Given the description of an element on the screen output the (x, y) to click on. 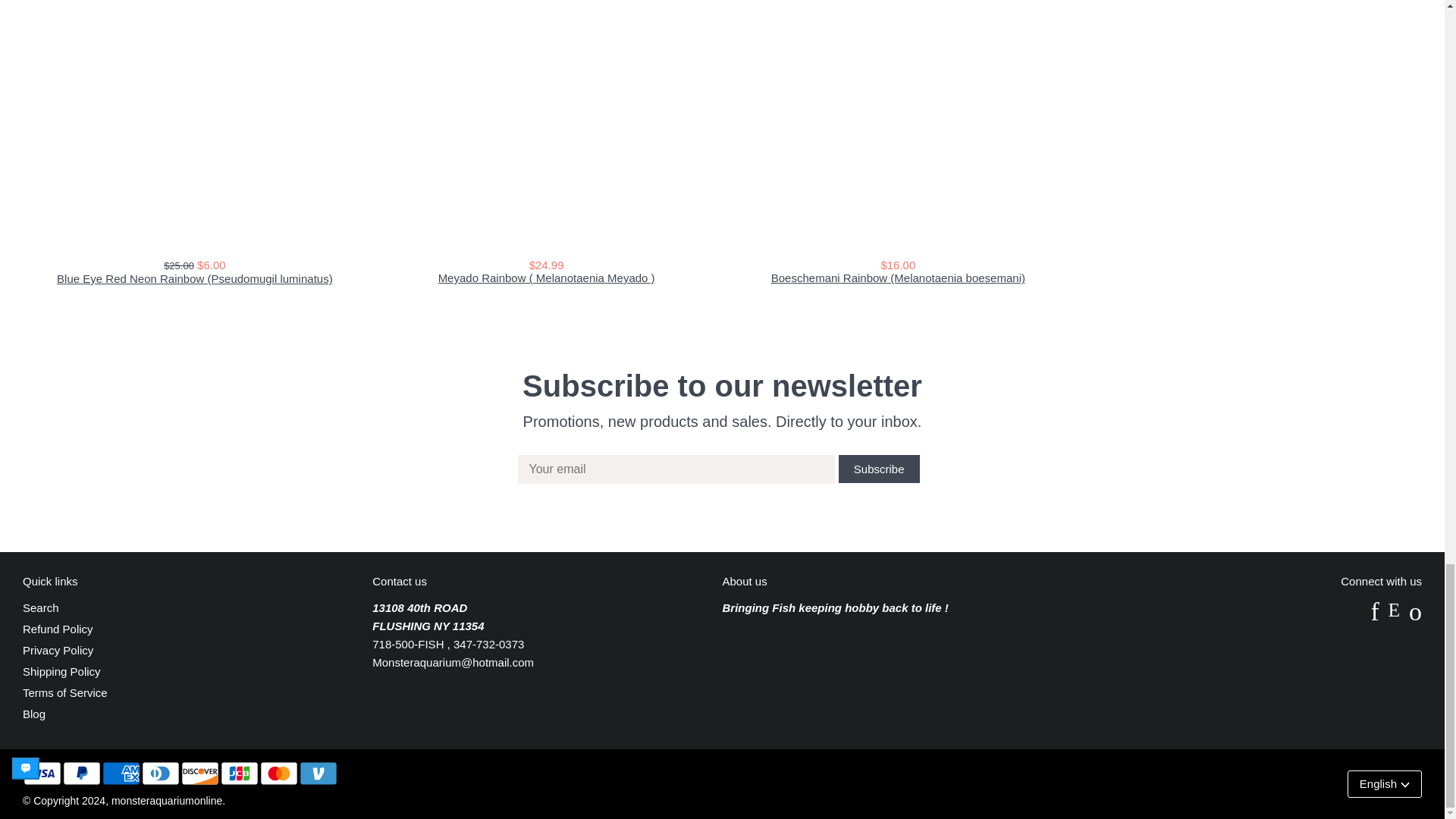
Subscribe (879, 469)
monsteraquariumonline on Instagram (1394, 615)
monsteraquariumonline on Yelp (1415, 615)
